Given the description of an element on the screen output the (x, y) to click on. 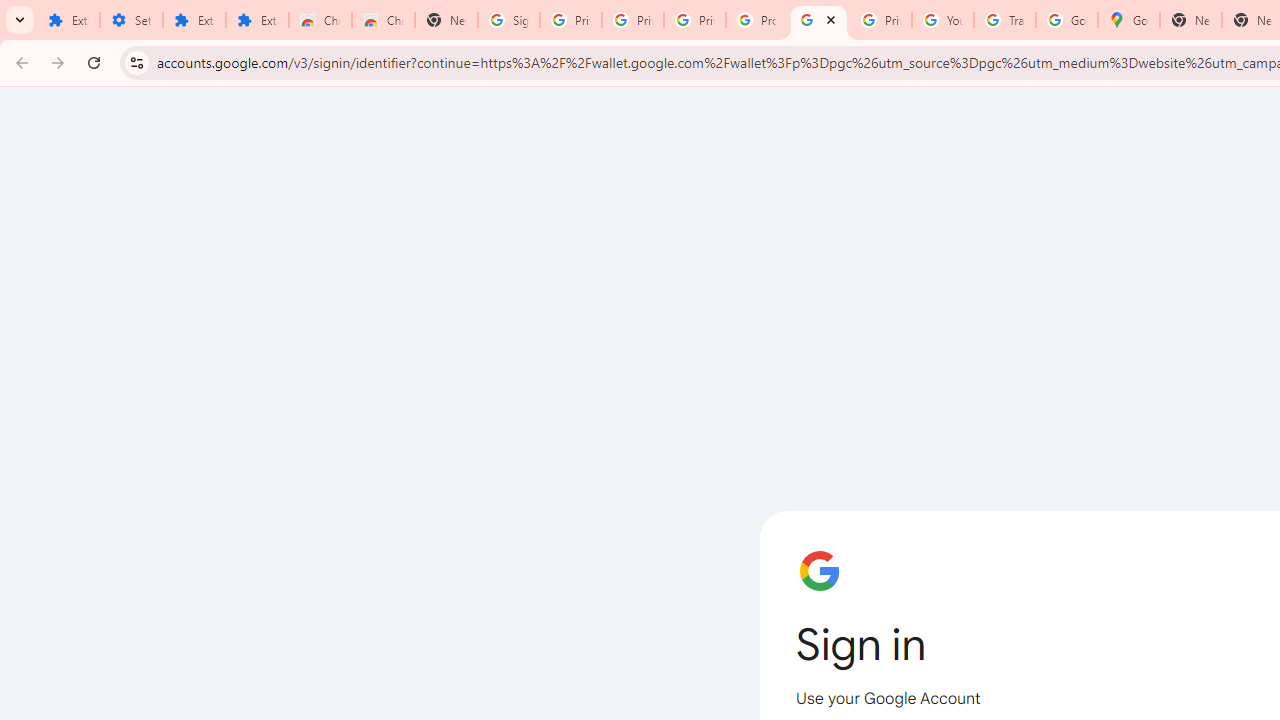
Extensions (68, 20)
Extensions (257, 20)
Chrome Web Store (320, 20)
